Given the description of an element on the screen output the (x, y) to click on. 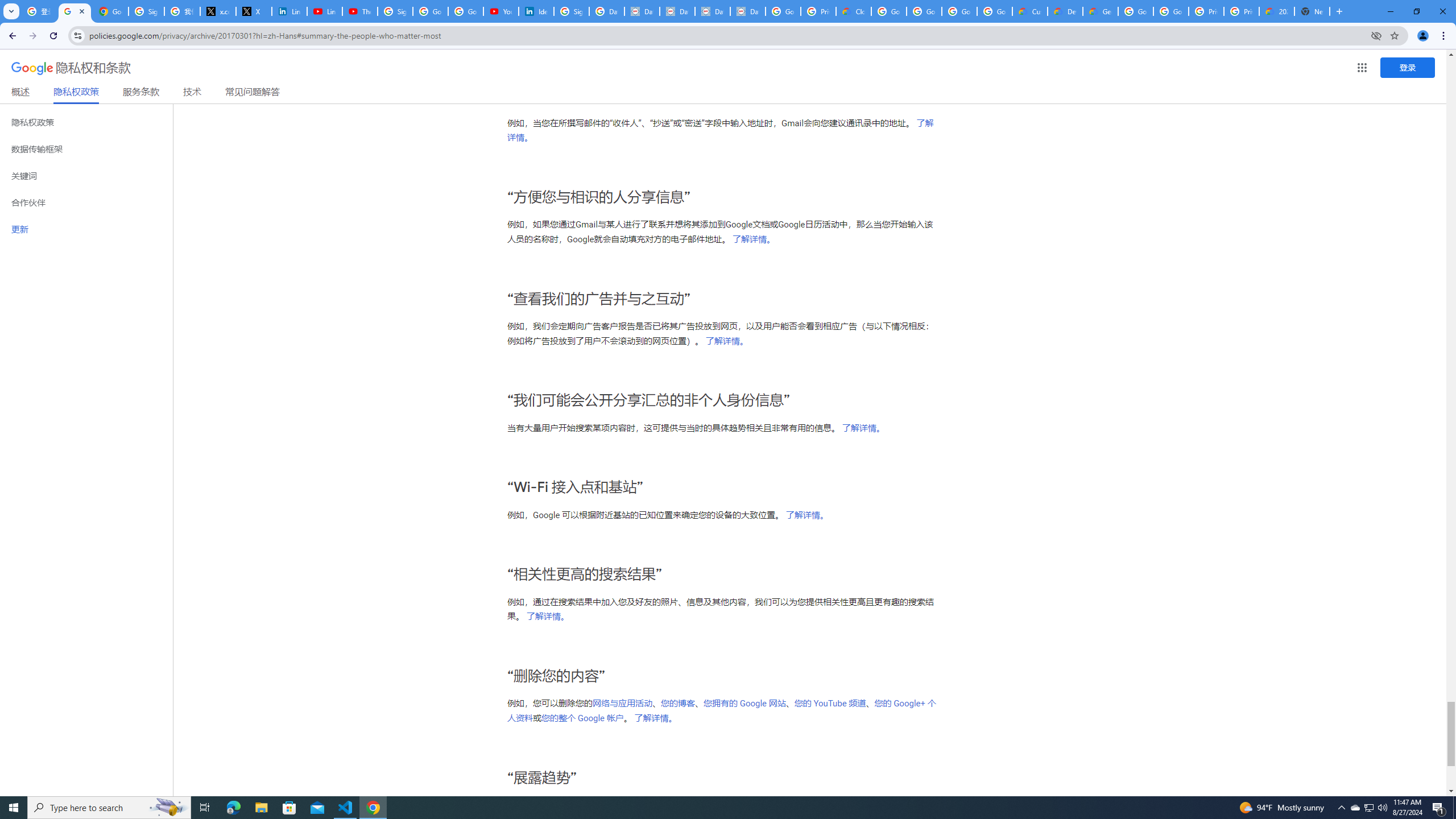
Customer Care | Google Cloud (1029, 11)
